Given the description of an element on the screen output the (x, y) to click on. 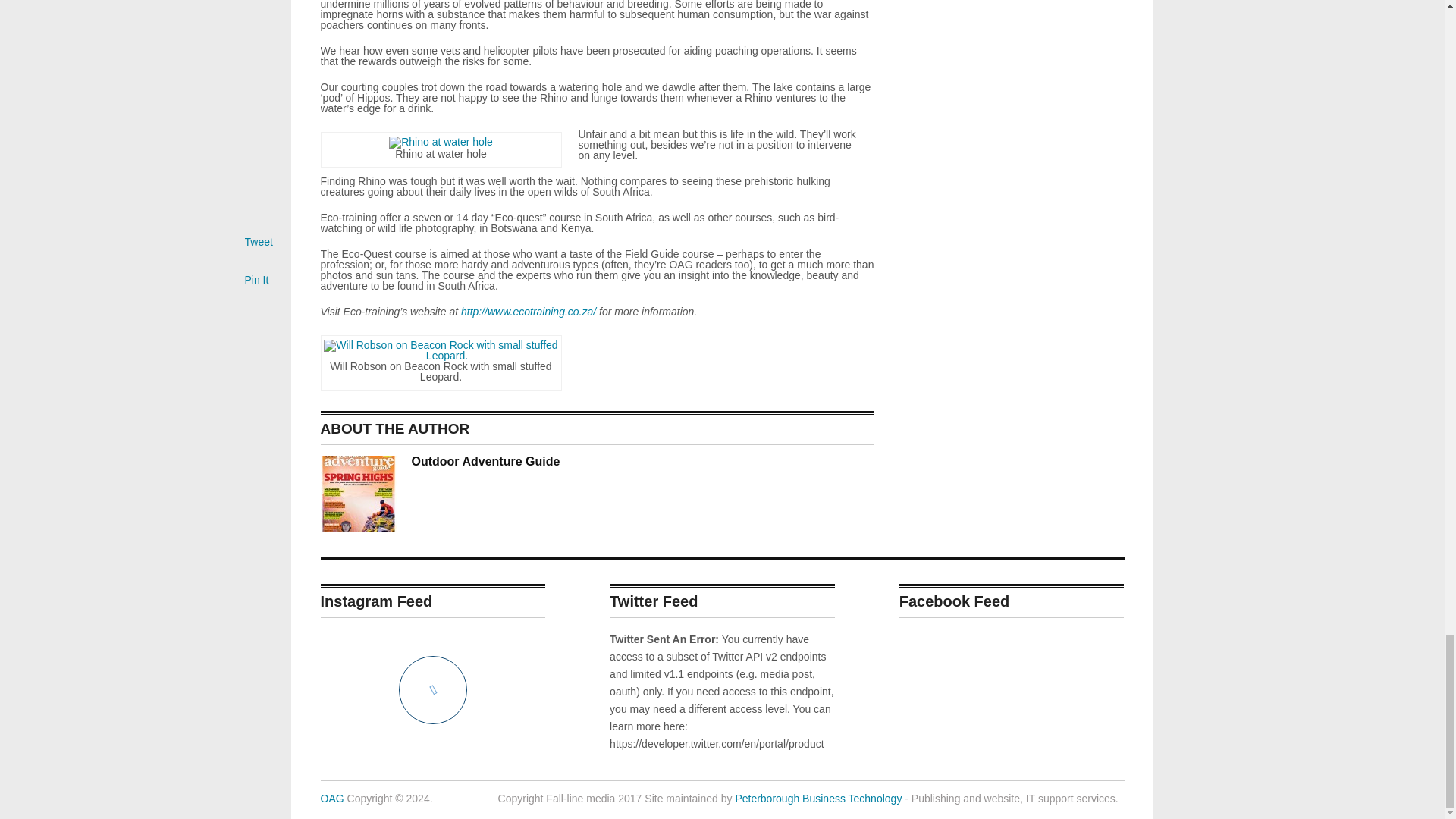
Outdoor Adventure Guide (331, 798)
Eco-training (528, 311)
